Given the description of an element on the screen output the (x, y) to click on. 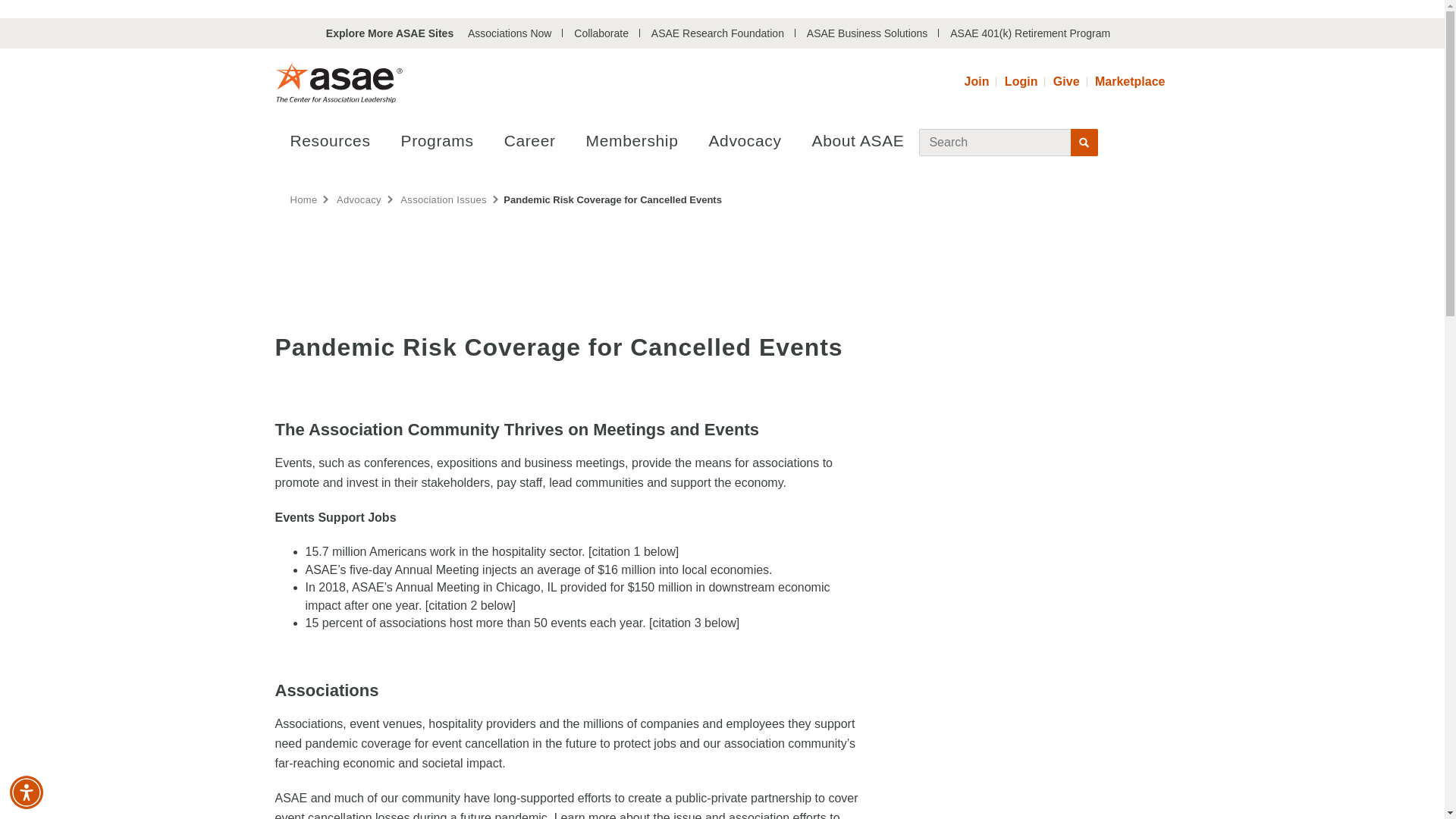
Resources (330, 140)
back to Advocacy (358, 200)
ASAE Business Solutions (866, 33)
back to Home (303, 200)
Give (1066, 81)
Associations Now (510, 33)
back to Association Issues (443, 200)
Associations Now (510, 33)
ASAE Business Solutions (866, 33)
Accessibility Menu (26, 792)
Collaborate (601, 33)
Marketplace (1130, 81)
Collaborate (601, 33)
ASAE Research Foundation (717, 33)
Join (976, 81)
